Given the description of an element on the screen output the (x, y) to click on. 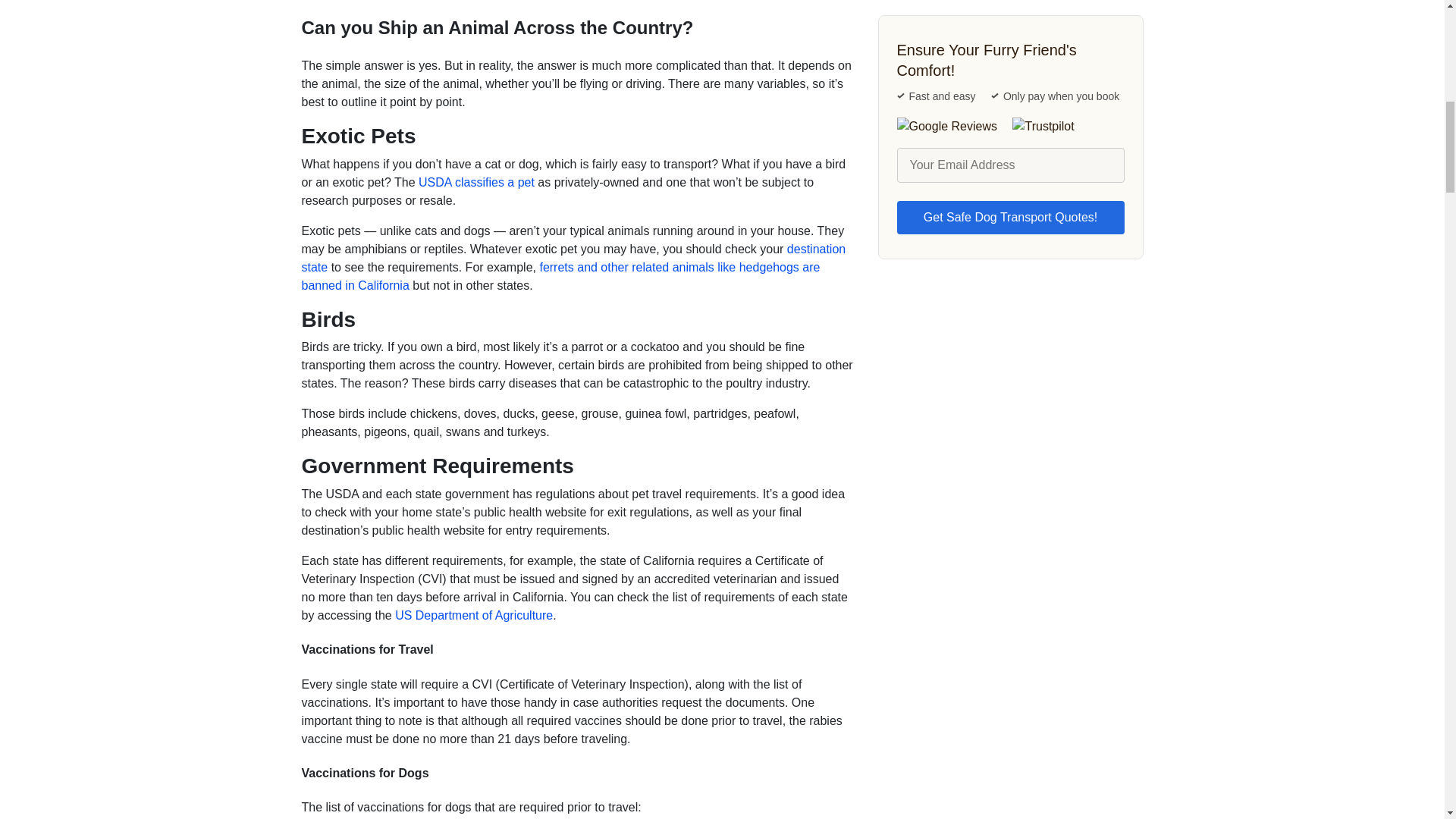
destination state (573, 257)
US Department of Agriculture (473, 615)
USDA classifies a pet (476, 182)
